Given the description of an element on the screen output the (x, y) to click on. 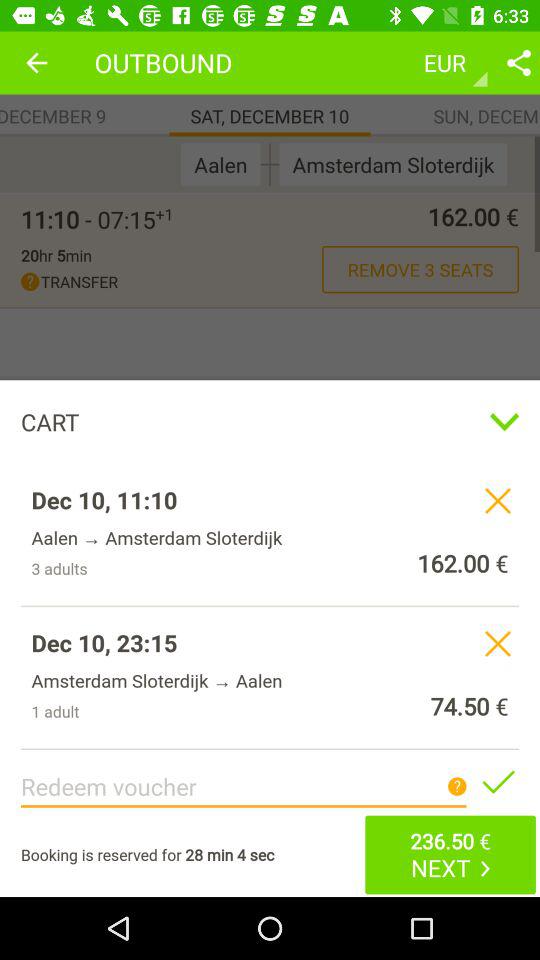
share the article (498, 781)
